Given the description of an element on the screen output the (x, y) to click on. 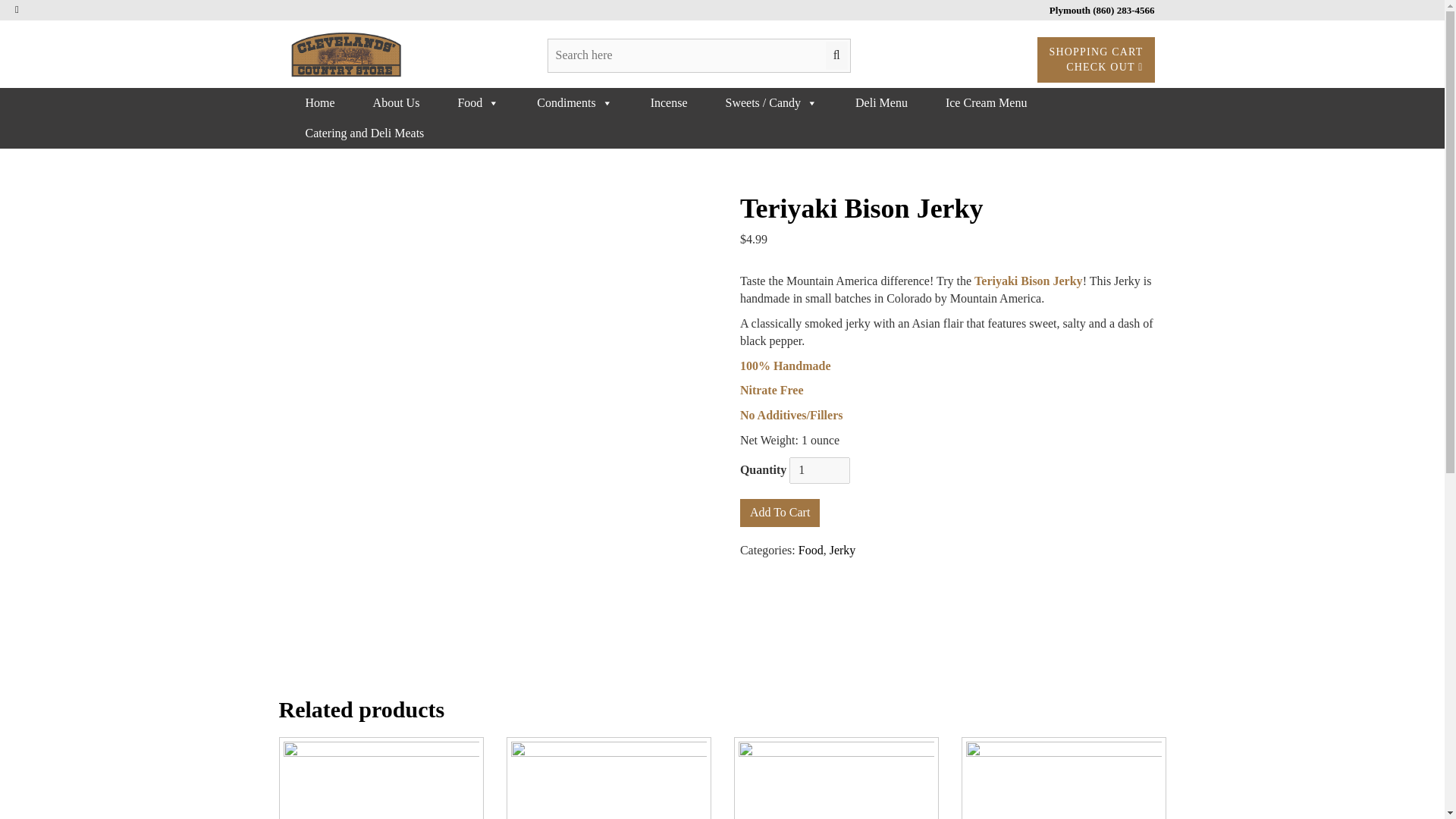
About Us (396, 102)
Incense (668, 102)
Condiments (574, 102)
Catering and Deli Meats (364, 132)
CHECK OUT (1103, 67)
Add To Cart (779, 512)
Qty (819, 470)
Ice Cream Menu (986, 102)
Home (319, 102)
SHOPPING CART (1095, 52)
